Given the description of an element on the screen output the (x, y) to click on. 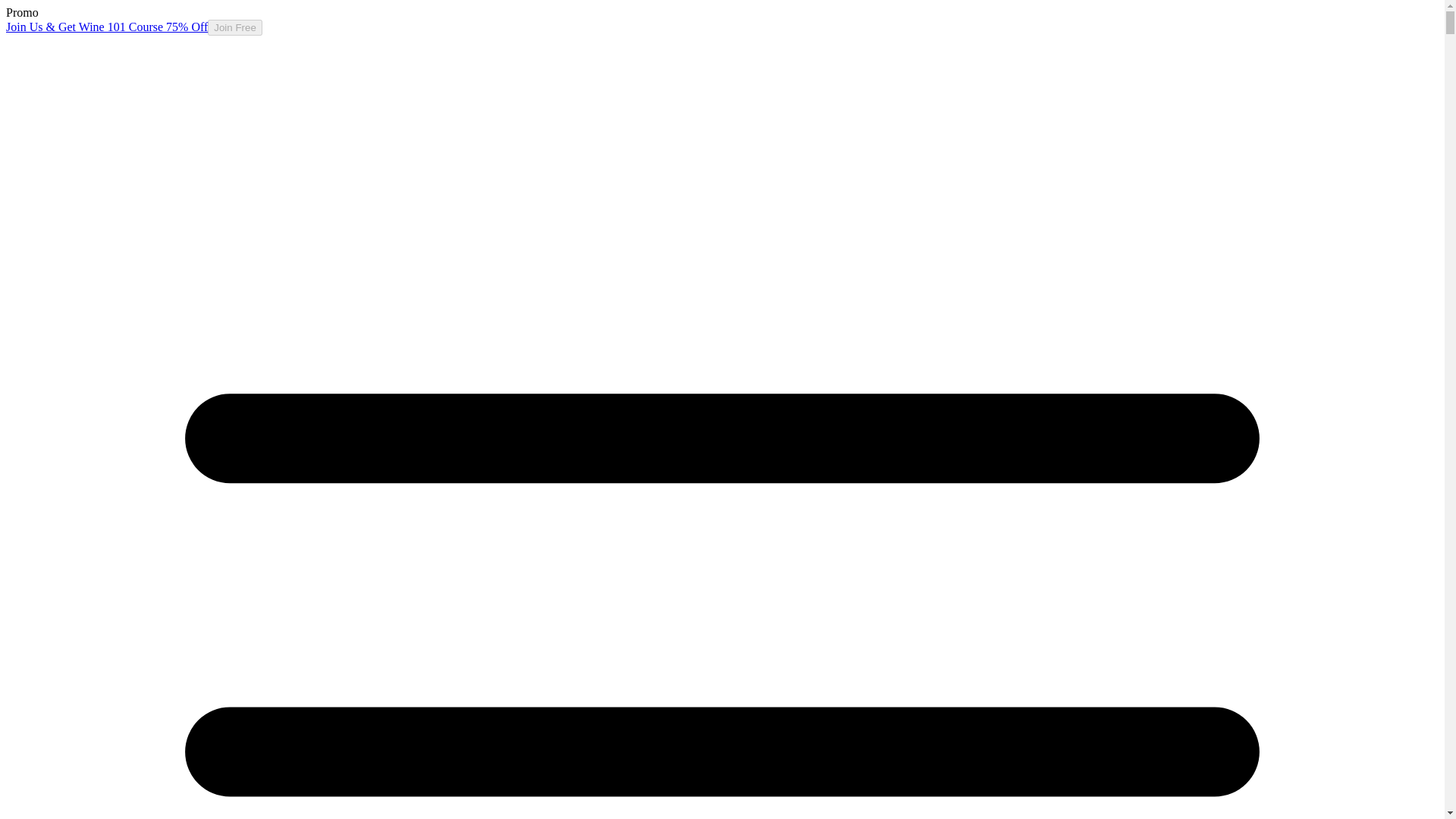
Join Free (235, 27)
